Given the description of an element on the screen output the (x, y) to click on. 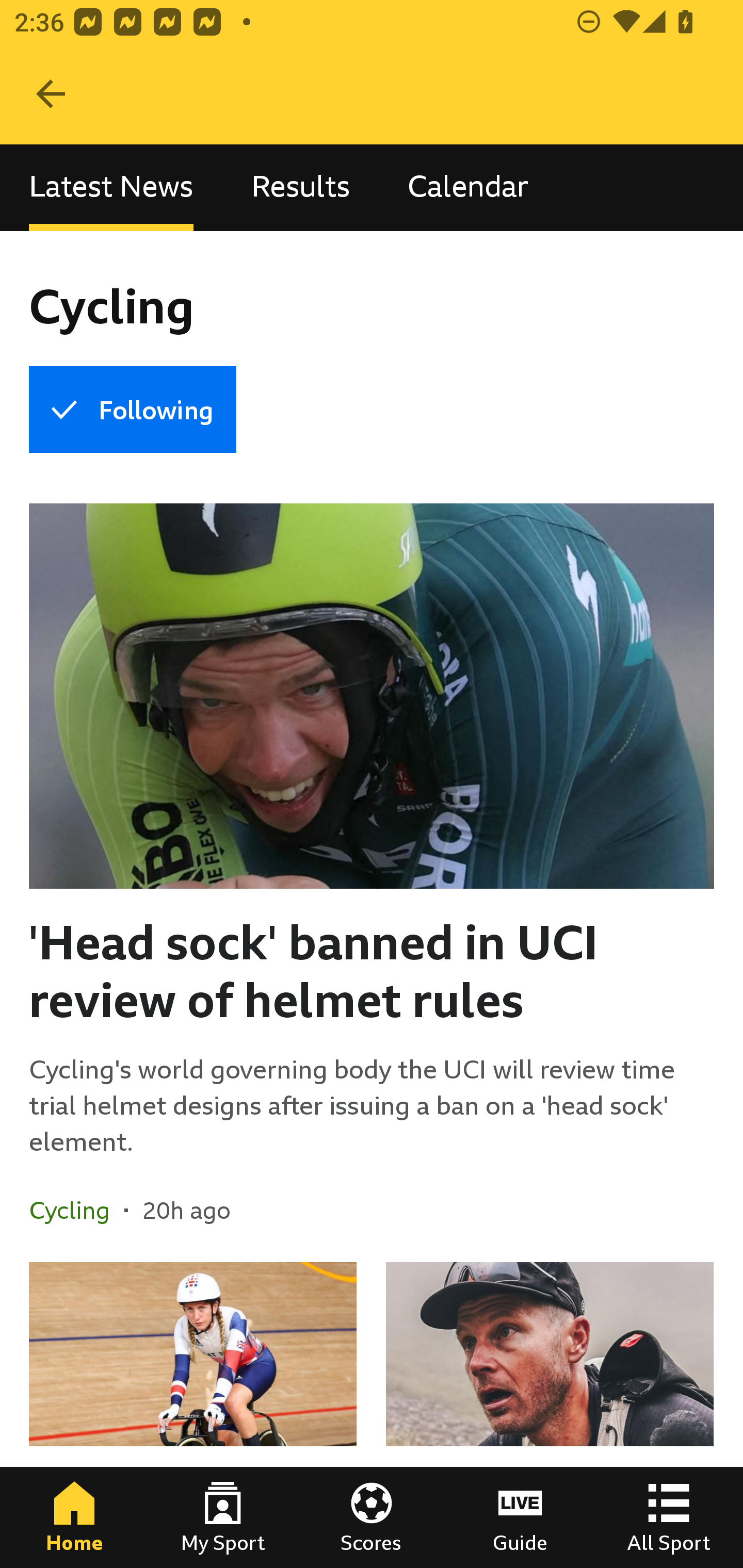
Navigate up (50, 93)
Latest News, selected Latest News (111, 187)
Results (300, 187)
Calendar (467, 187)
Following Cycling Following (132, 409)
Kenny has 'slim chance' of competing at Paris 2024 (192, 1415)
Rider, runner, winner - the second coming of Meier (549, 1415)
My Sport (222, 1517)
Scores (371, 1517)
Guide (519, 1517)
All Sport (668, 1517)
